Given the description of an element on the screen output the (x, y) to click on. 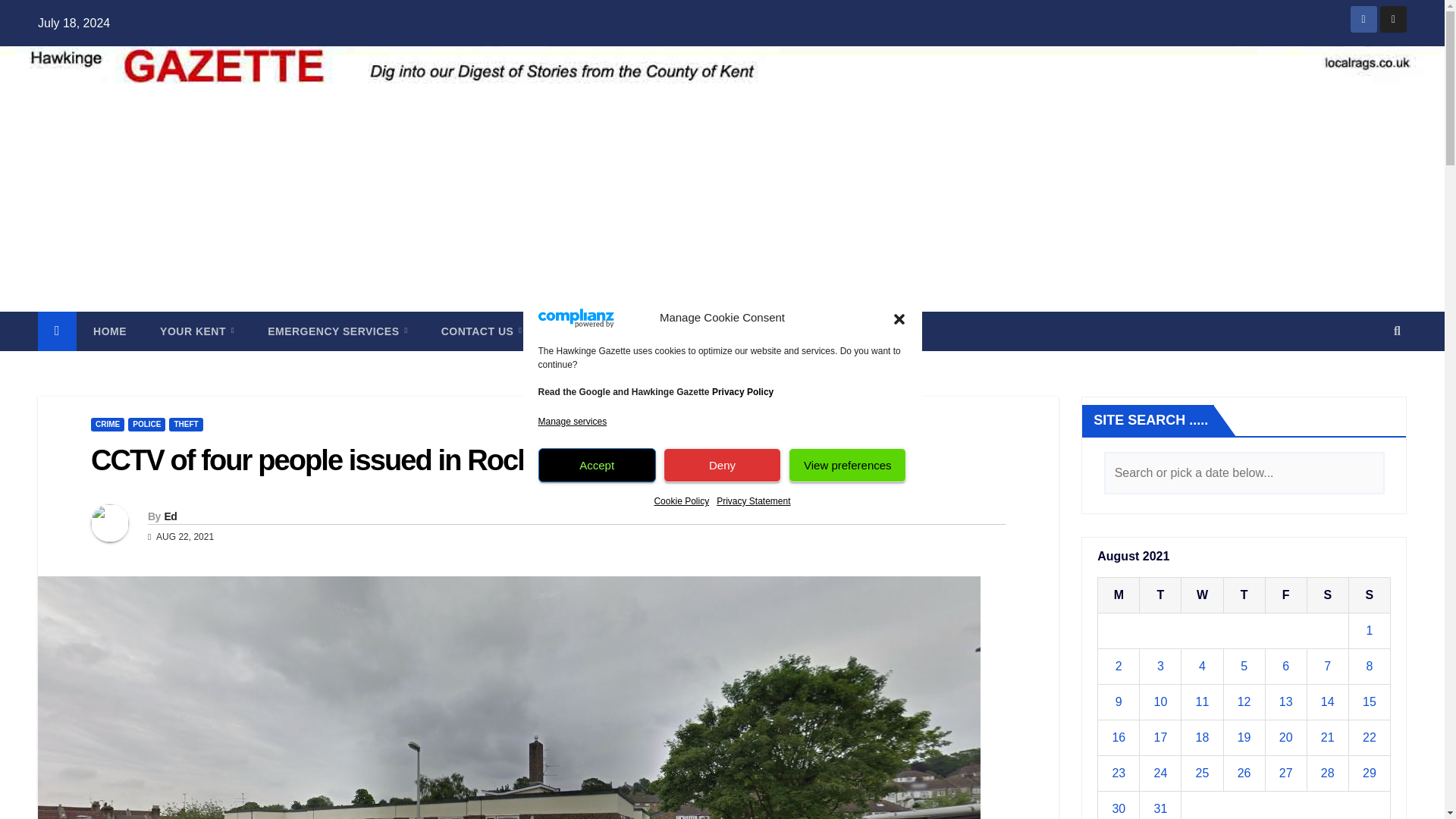
Privacy Statement (753, 500)
Deny (721, 464)
Privacy Policy (742, 391)
HOME (109, 331)
YOUR KENT (196, 331)
Manage services (572, 421)
Cookie Policy (681, 500)
HOME (109, 331)
YOUR KENT (196, 331)
Accept (597, 464)
View preferences (847, 464)
